Given the description of an element on the screen output the (x, y) to click on. 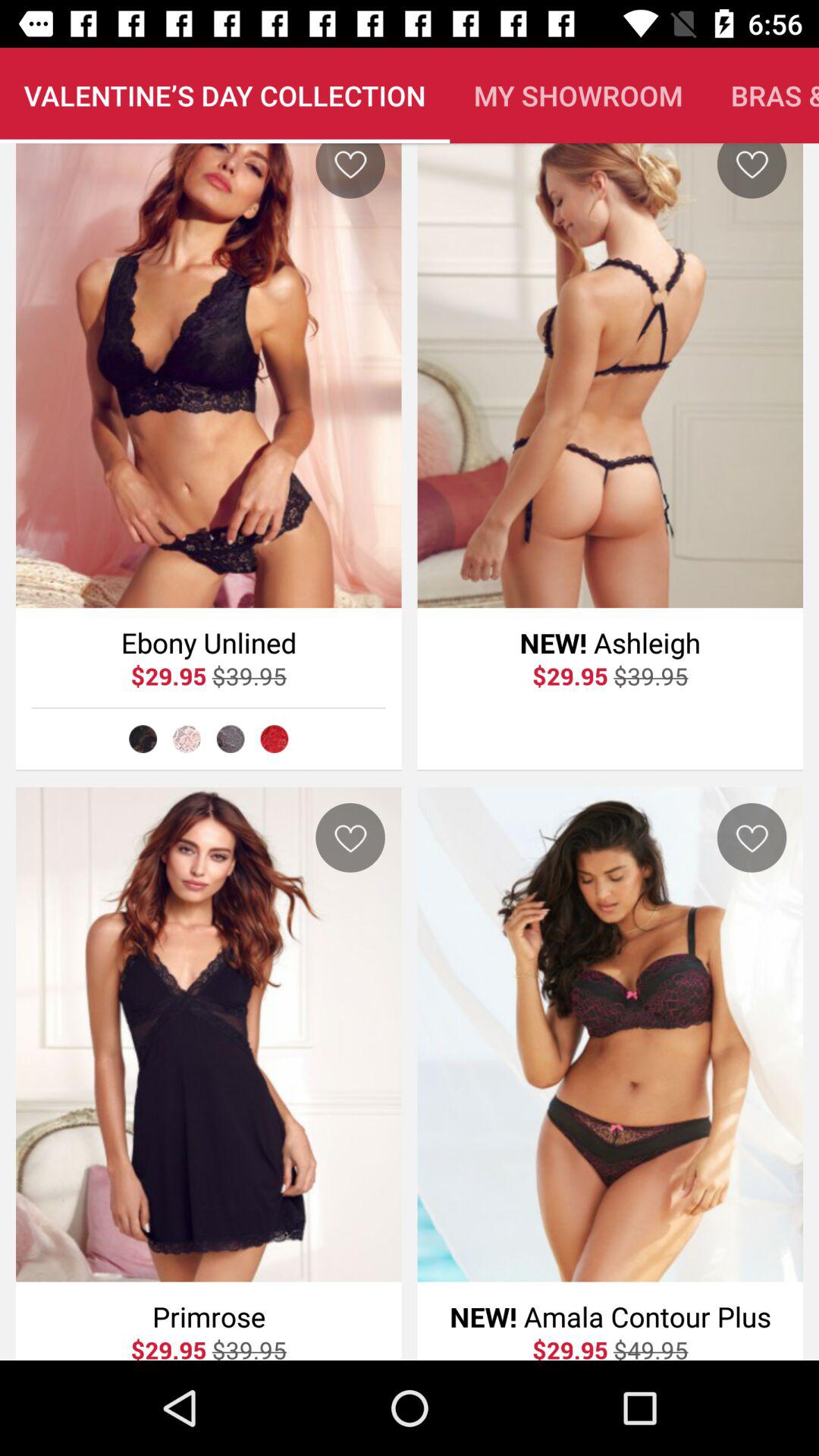
tap icon below the 29 95 39 item (186, 738)
